Given the description of an element on the screen output the (x, y) to click on. 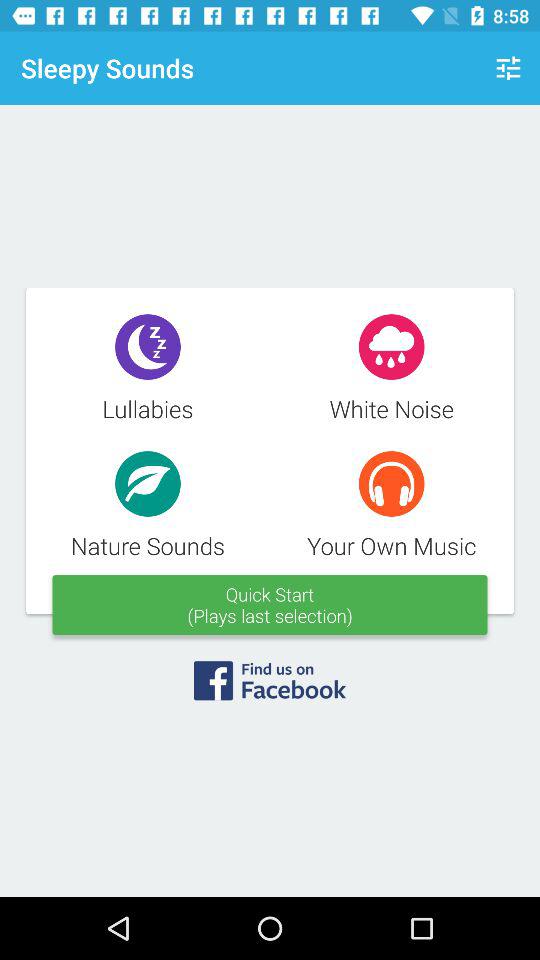
choose the item next to the sleepy sounds item (508, 67)
